Given the description of an element on the screen output the (x, y) to click on. 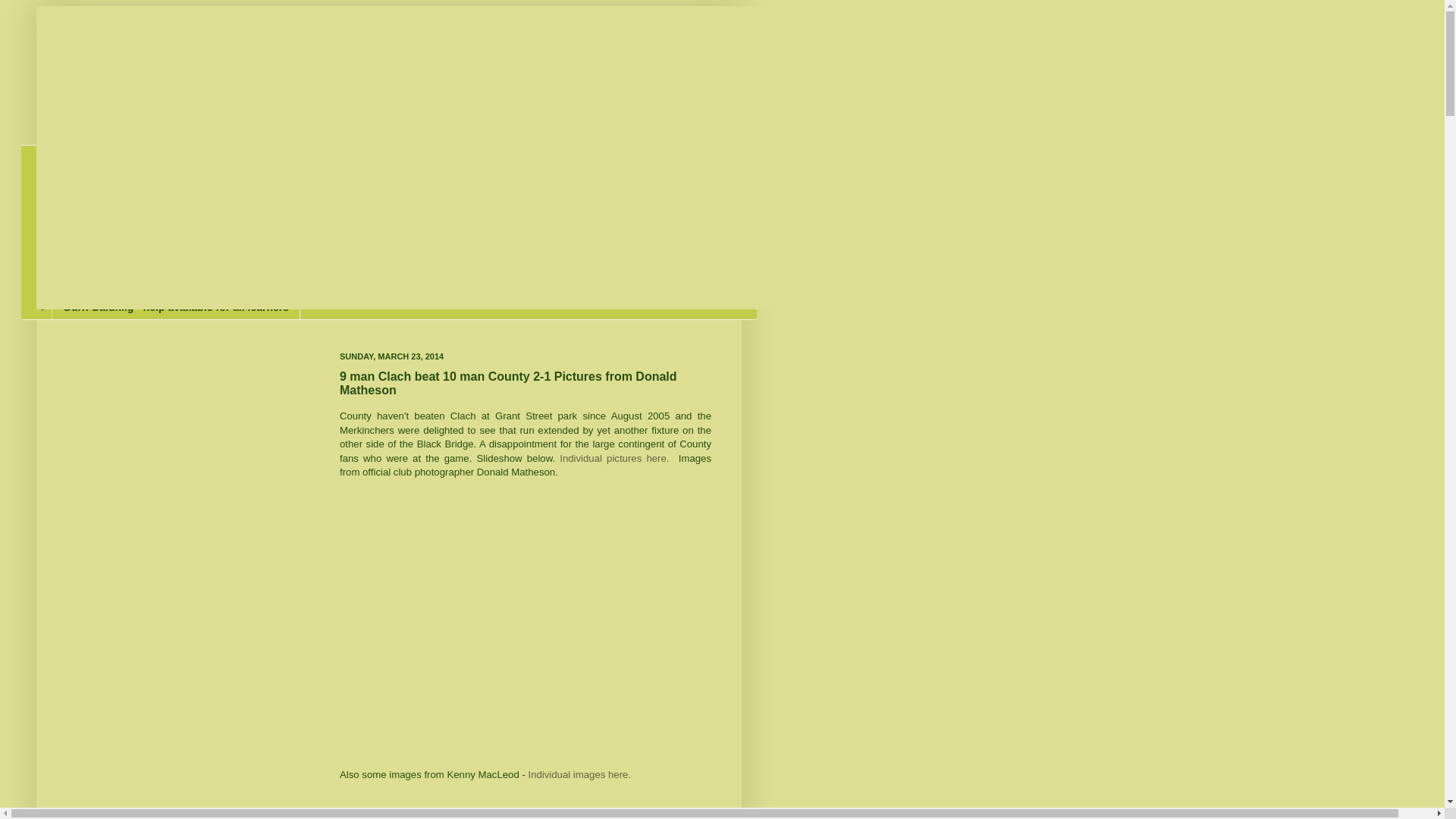
Gurn Flickr (90, 232)
Individual pictures here.  (615, 458)
News (75, 157)
Apples - Let's grow some in Nairnshire! - Orchard ... (193, 257)
Individual images here.  (579, 774)
Gurn Twitter (93, 181)
NAS Orchard Group (113, 282)
Gurn Youtube (97, 207)
